Given the description of an element on the screen output the (x, y) to click on. 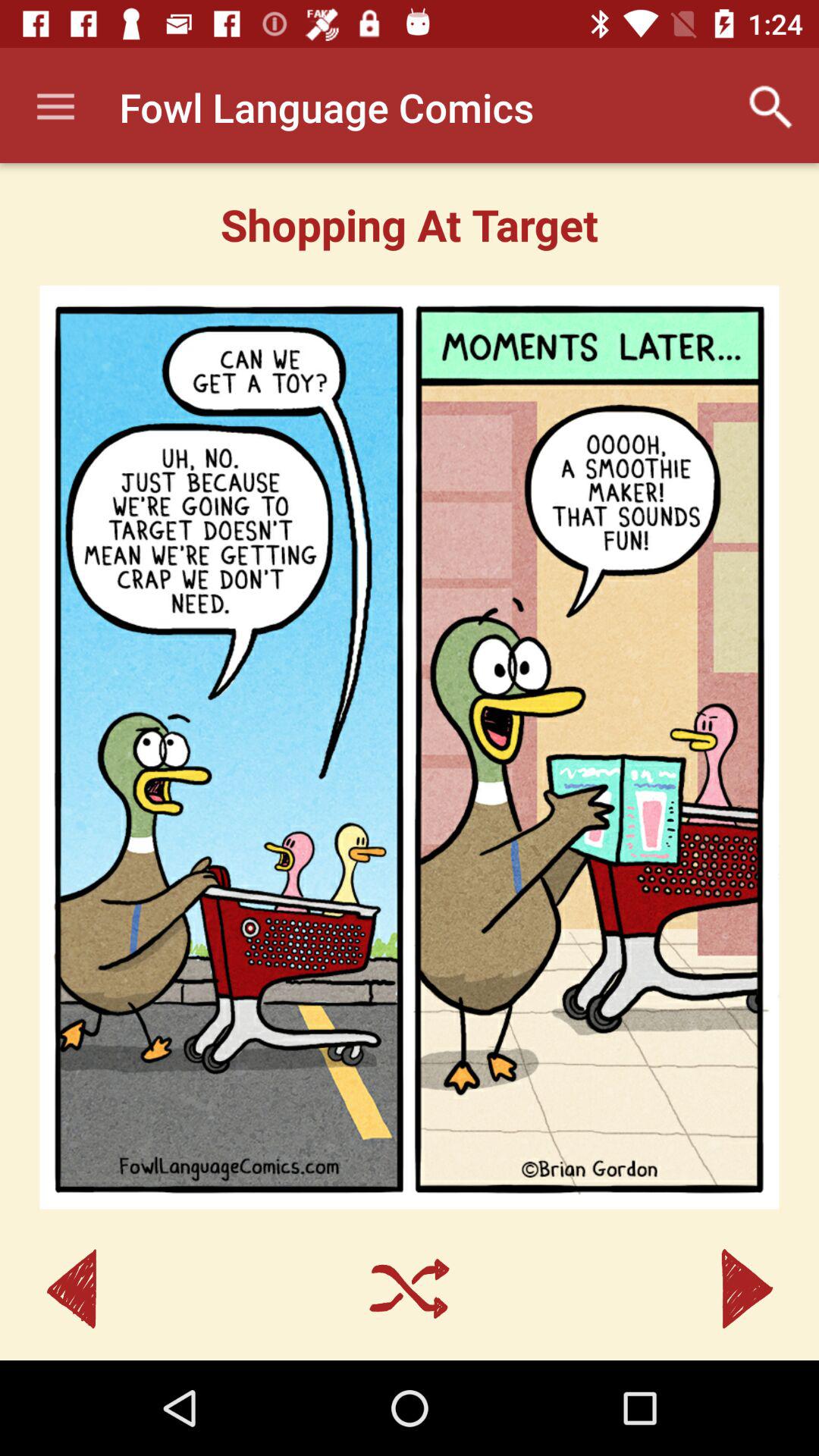
tap icon at the bottom right corner (747, 1288)
